Given the description of an element on the screen output the (x, y) to click on. 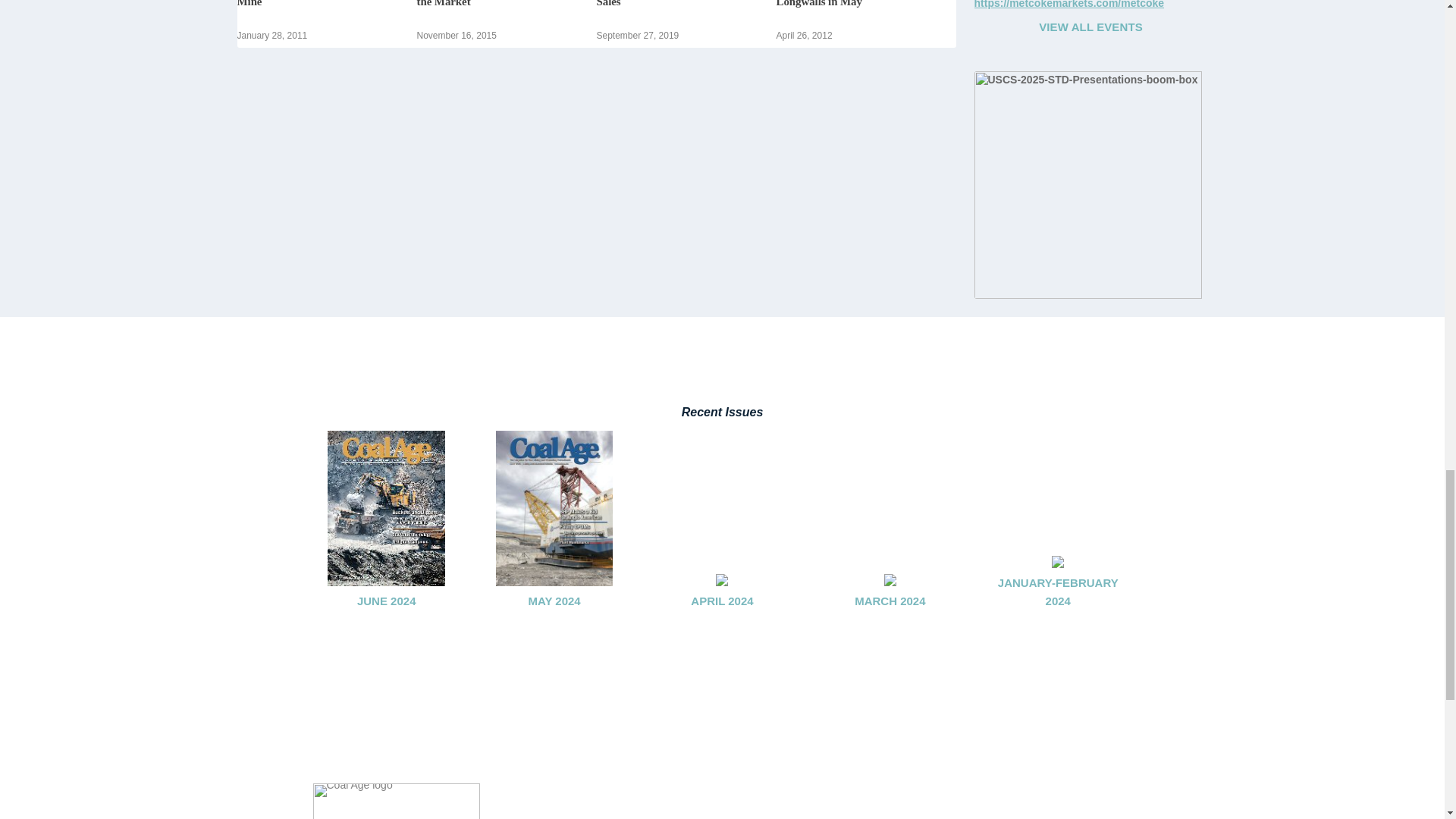
CONSOL Energy Will Restart Idled Longwalls in May (863, 3)
Warrior Met Reports Record Coal Sales (678, 3)
Alliance Battles to Keep Share of the Market (495, 3)
Coal Age logo (396, 800)
Production Resumes at Warrior Mine (312, 3)
